Given the description of an element on the screen output the (x, y) to click on. 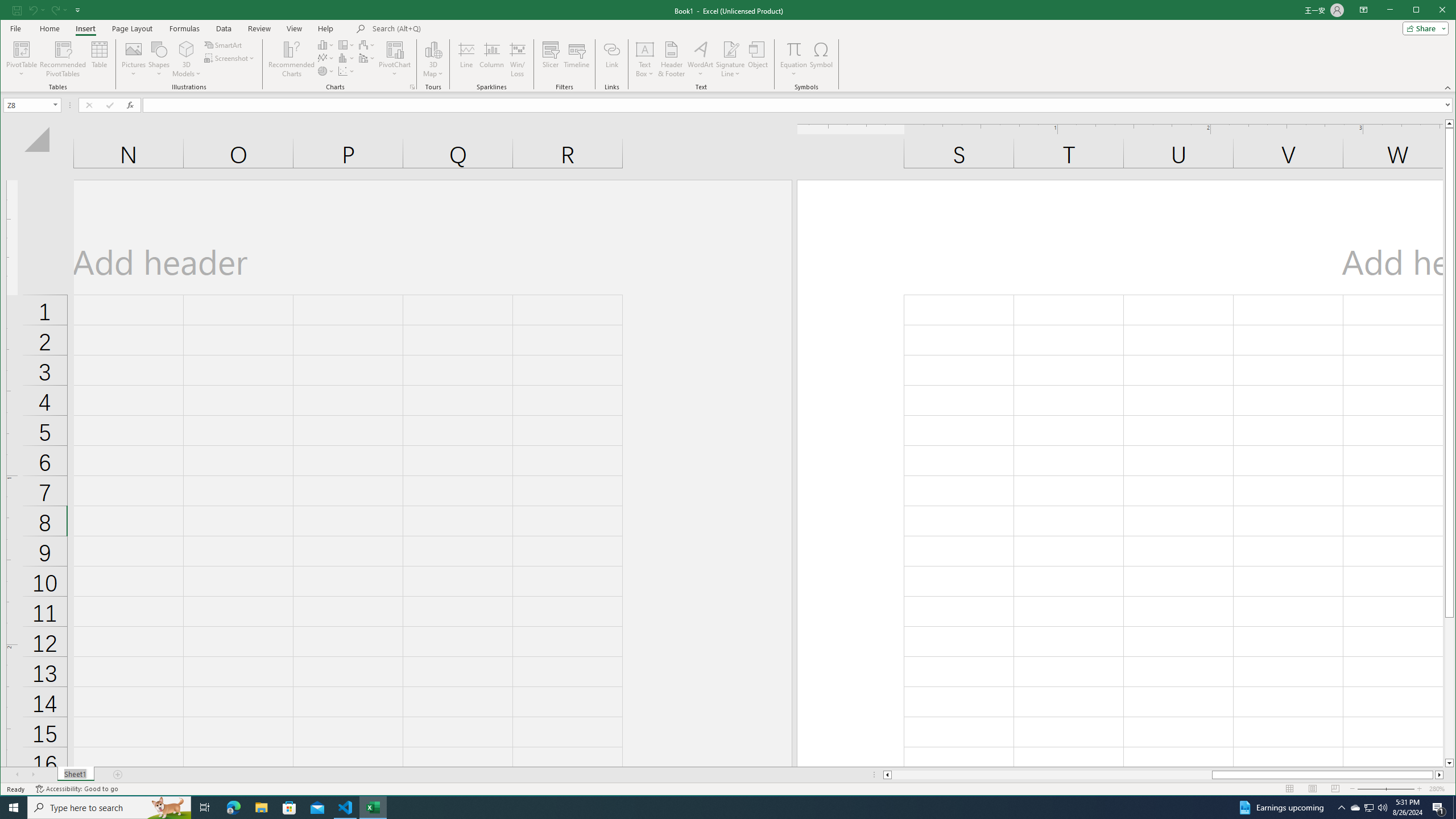
Slicer... (550, 59)
Pictures (133, 59)
Recommended Charts (411, 86)
Microsoft Edge (1368, 807)
Maximize (233, 807)
Excel - 1 running window (1432, 11)
Insert Hierarchy Chart (373, 807)
